Given the description of an element on the screen output the (x, y) to click on. 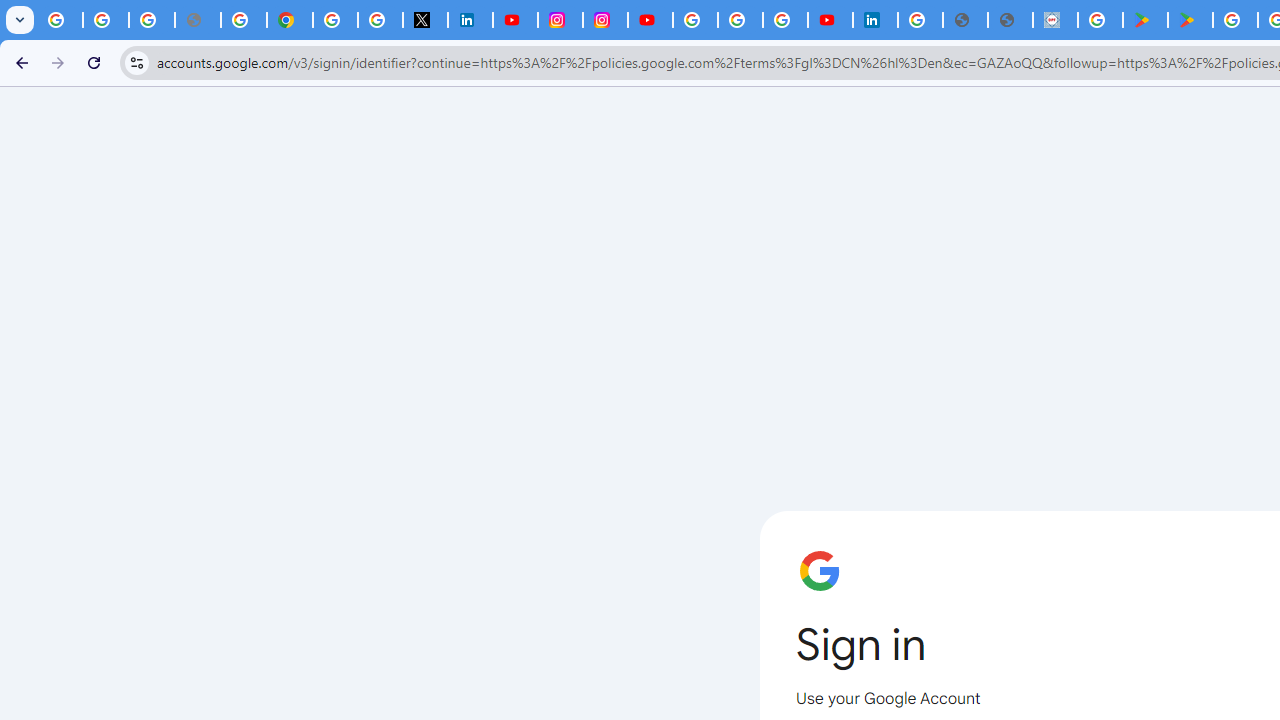
YouTube Content Monetization Policies - How YouTube Works (514, 20)
Data Privacy Framework (1055, 20)
PAW Patrol Rescue World - Apps on Google Play (1190, 20)
X (425, 20)
User Details (1010, 20)
Sign in - Google Accounts (335, 20)
LinkedIn Privacy Policy (470, 20)
google_privacy_policy_en.pdf (965, 20)
